Given the description of an element on the screen output the (x, y) to click on. 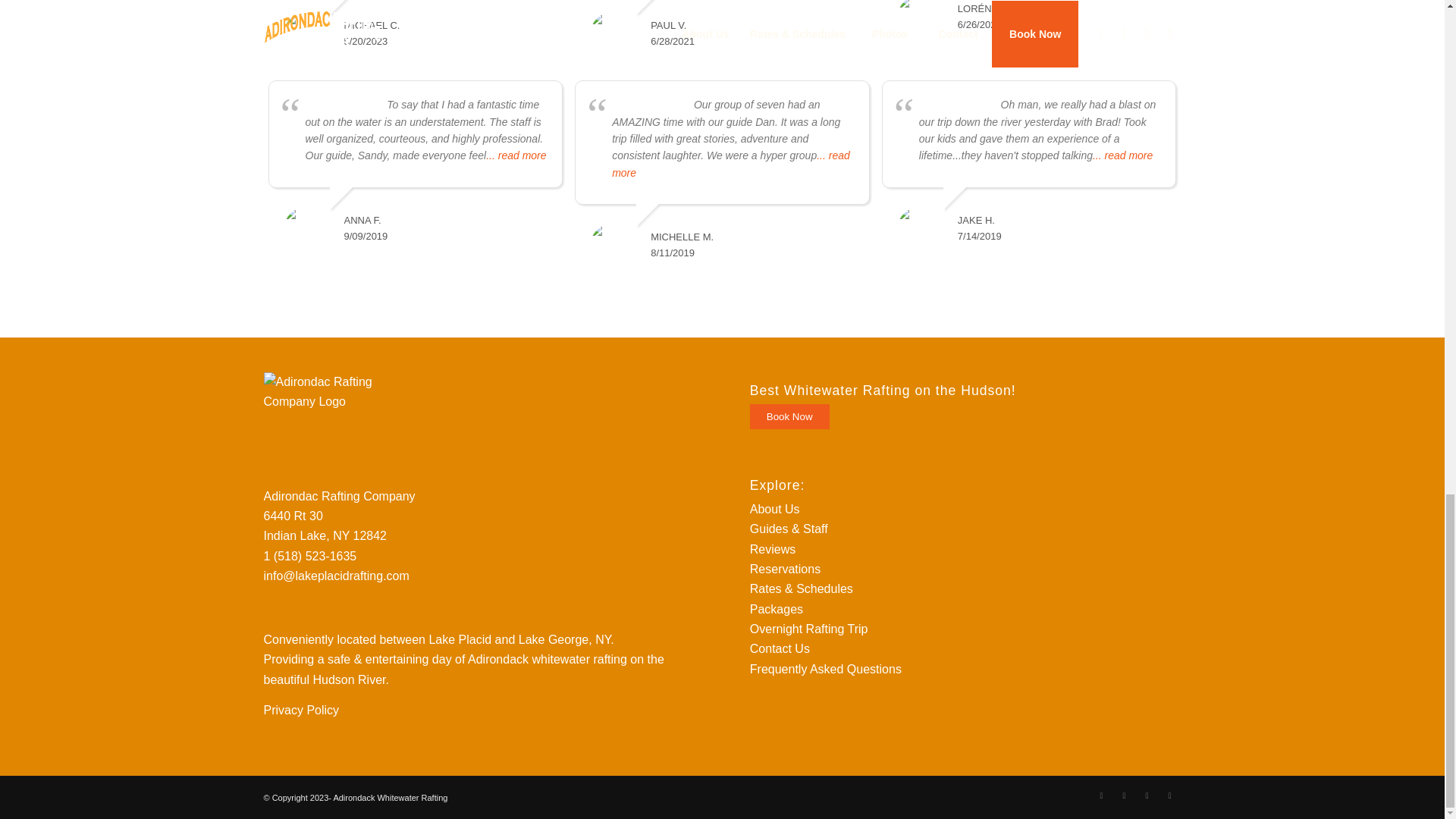
Facebook (1101, 794)
Instagram (1124, 794)
X (1146, 794)
Youtube (1169, 794)
